Given the description of an element on the screen output the (x, y) to click on. 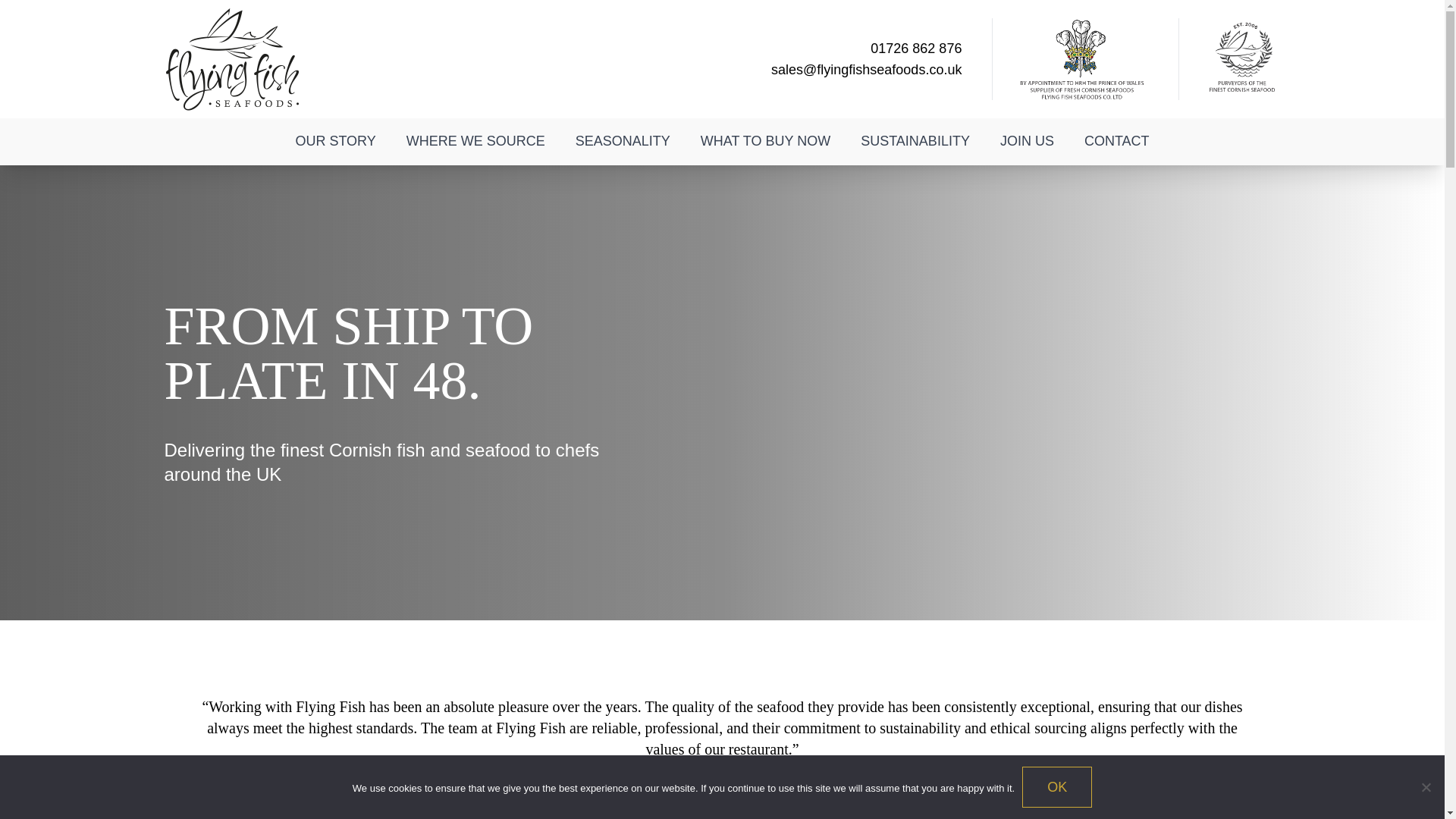
WHAT TO BUY NOW (765, 141)
JOIN US (1026, 141)
OK (1057, 786)
01726 862 876 (915, 48)
SEASONALITY (622, 141)
WHERE WE SOURCE (475, 141)
CONTACT (1116, 141)
OUR STORY (334, 141)
No (1425, 786)
SUSTAINABILITY (915, 141)
